Given the description of an element on the screen output the (x, y) to click on. 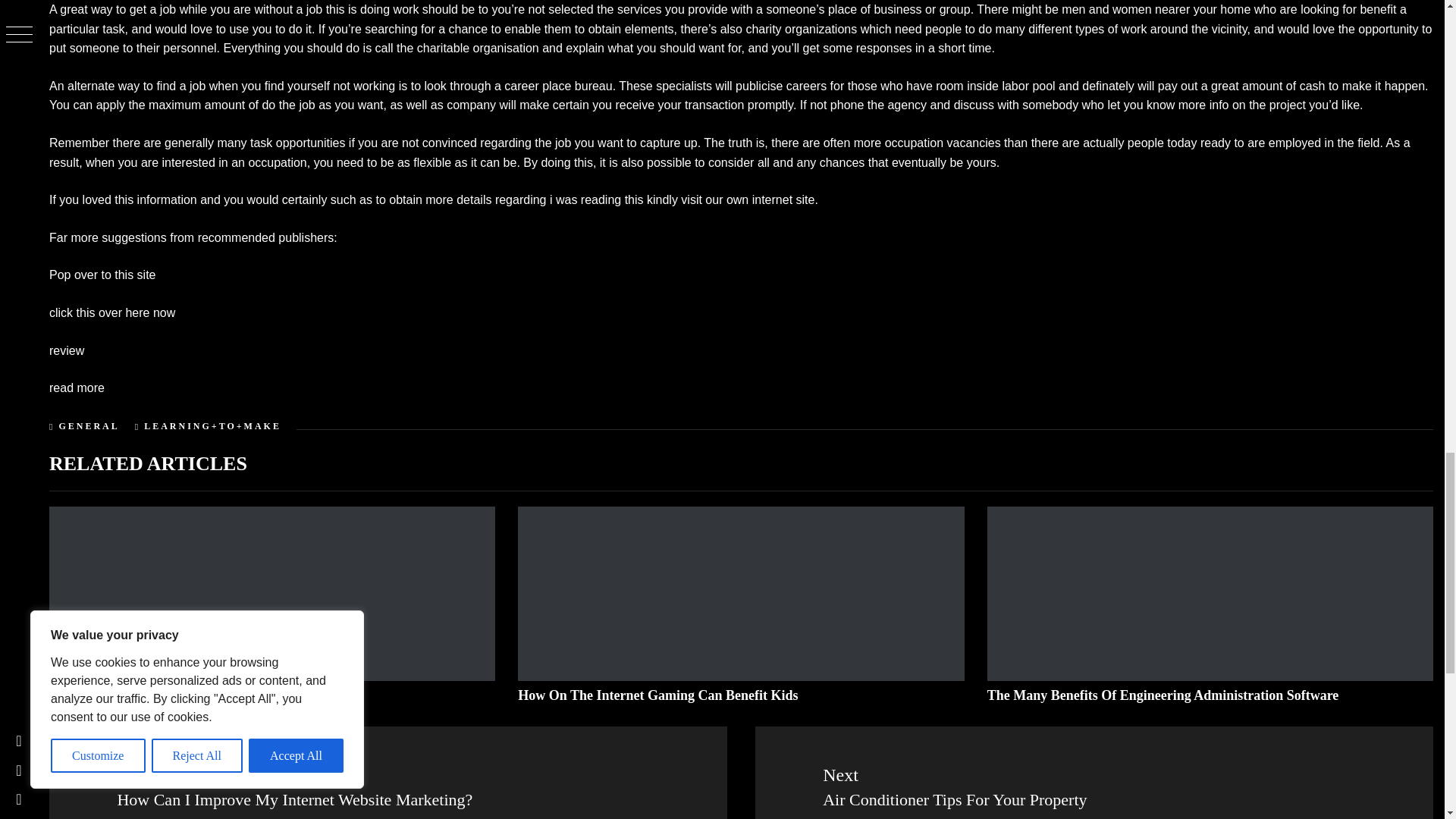
provide (706, 9)
i was reading this (596, 199)
GENERAL (88, 425)
charity organizations (801, 29)
click this over here now (111, 312)
review (66, 350)
suggestions (133, 237)
read more (76, 387)
Pop over to this site (102, 274)
